Given the description of an element on the screen output the (x, y) to click on. 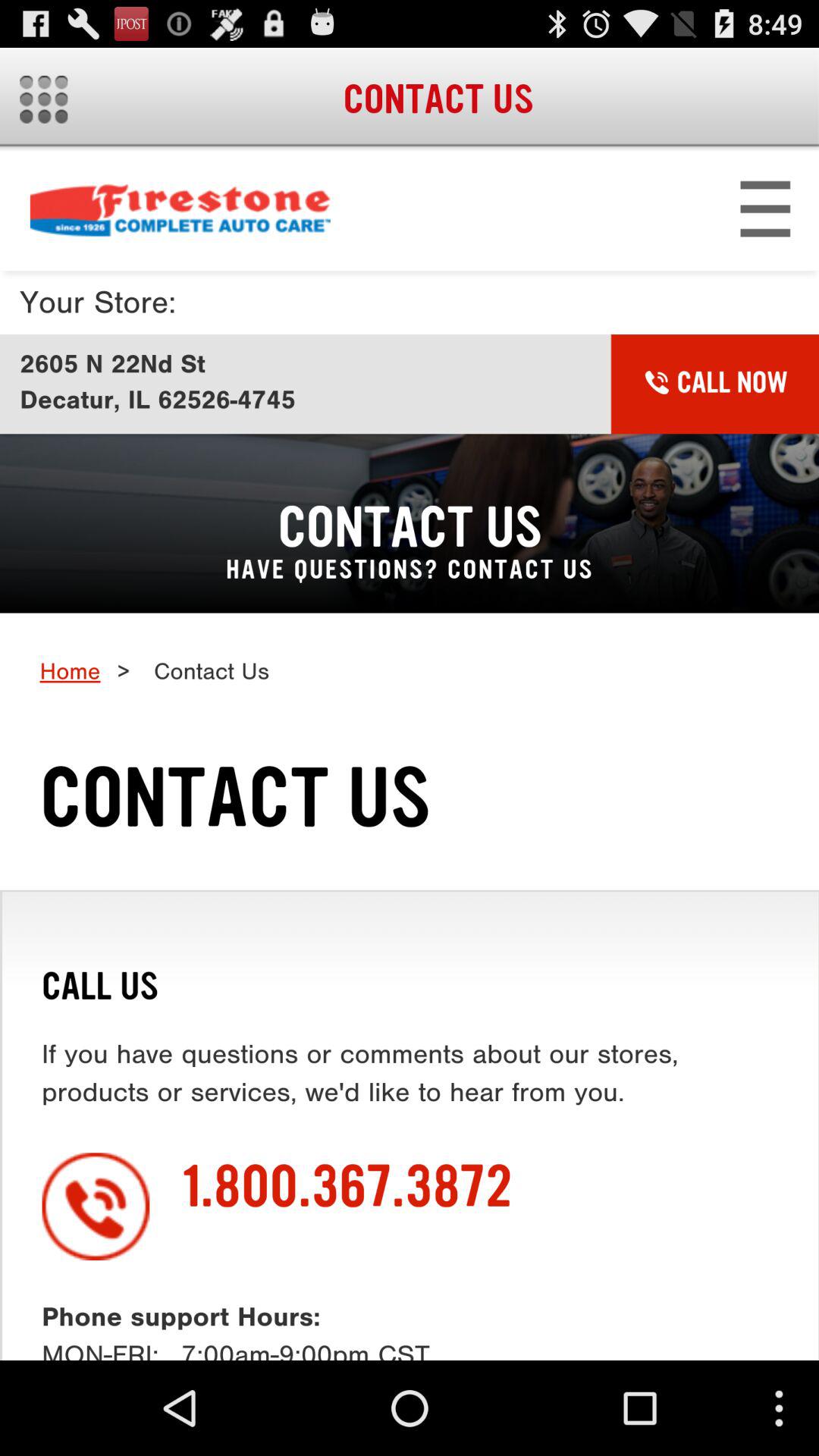
reach us via (409, 755)
